Given the description of an element on the screen output the (x, y) to click on. 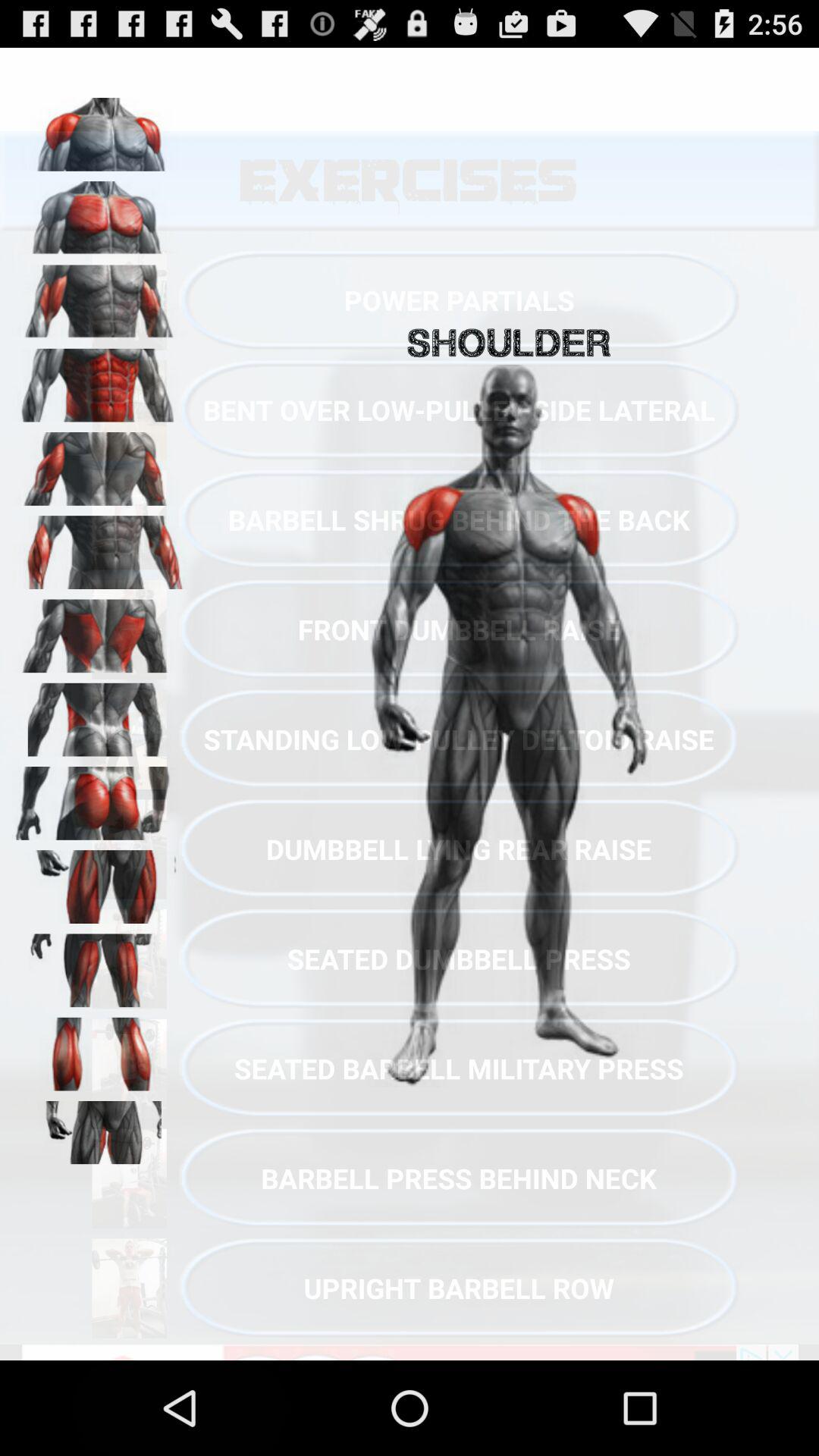
this selects the muscle part you want (99, 630)
